Given the description of an element on the screen output the (x, y) to click on. 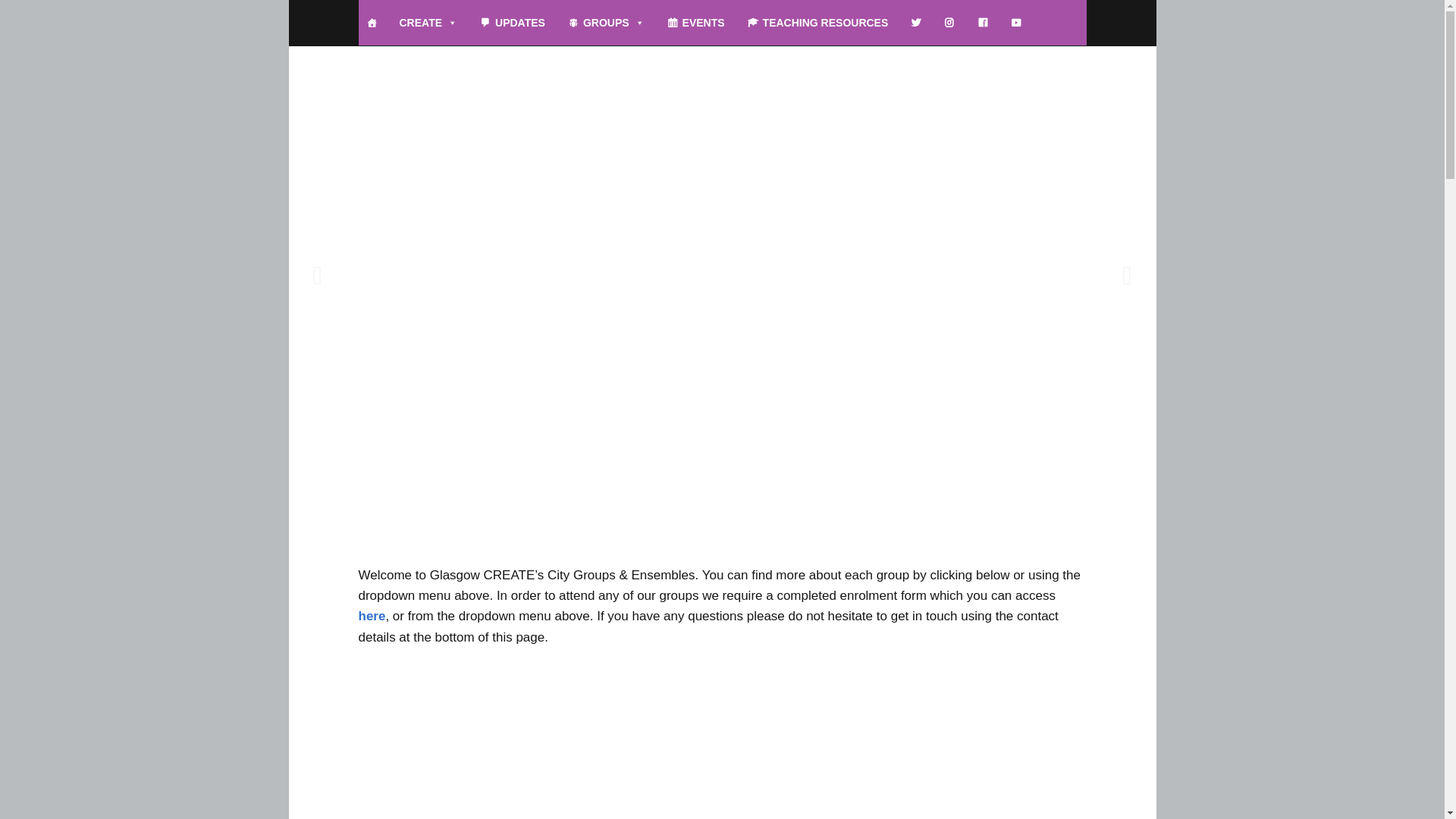
GROUPS (606, 22)
UPDATES (512, 22)
CREATE (427, 22)
here (371, 616)
TEACHING RESOURCES (817, 22)
EVENTS (695, 22)
